Given the description of an element on the screen output the (x, y) to click on. 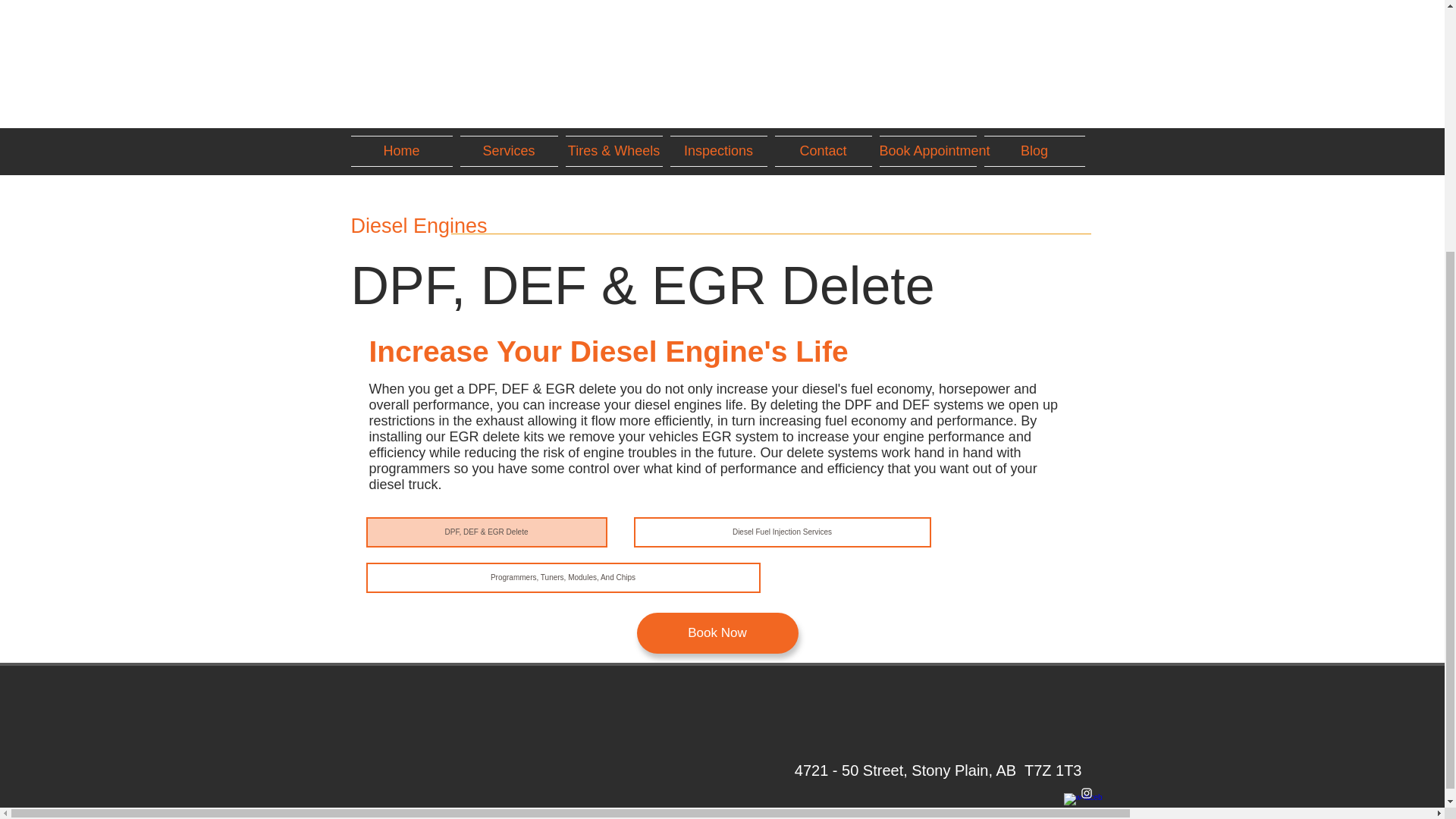
Services (537, 151)
Diesel Fuel Injection Services (782, 531)
Book Now (717, 632)
Contact (822, 151)
Inspections (717, 151)
Services (509, 151)
Home (402, 151)
Home (414, 151)
Inspections (783, 151)
Programmers, Tuners, Modules, And Chips (562, 577)
Blog (1031, 151)
Book Appointment (927, 151)
Contact (904, 151)
